Given the description of an element on the screen output the (x, y) to click on. 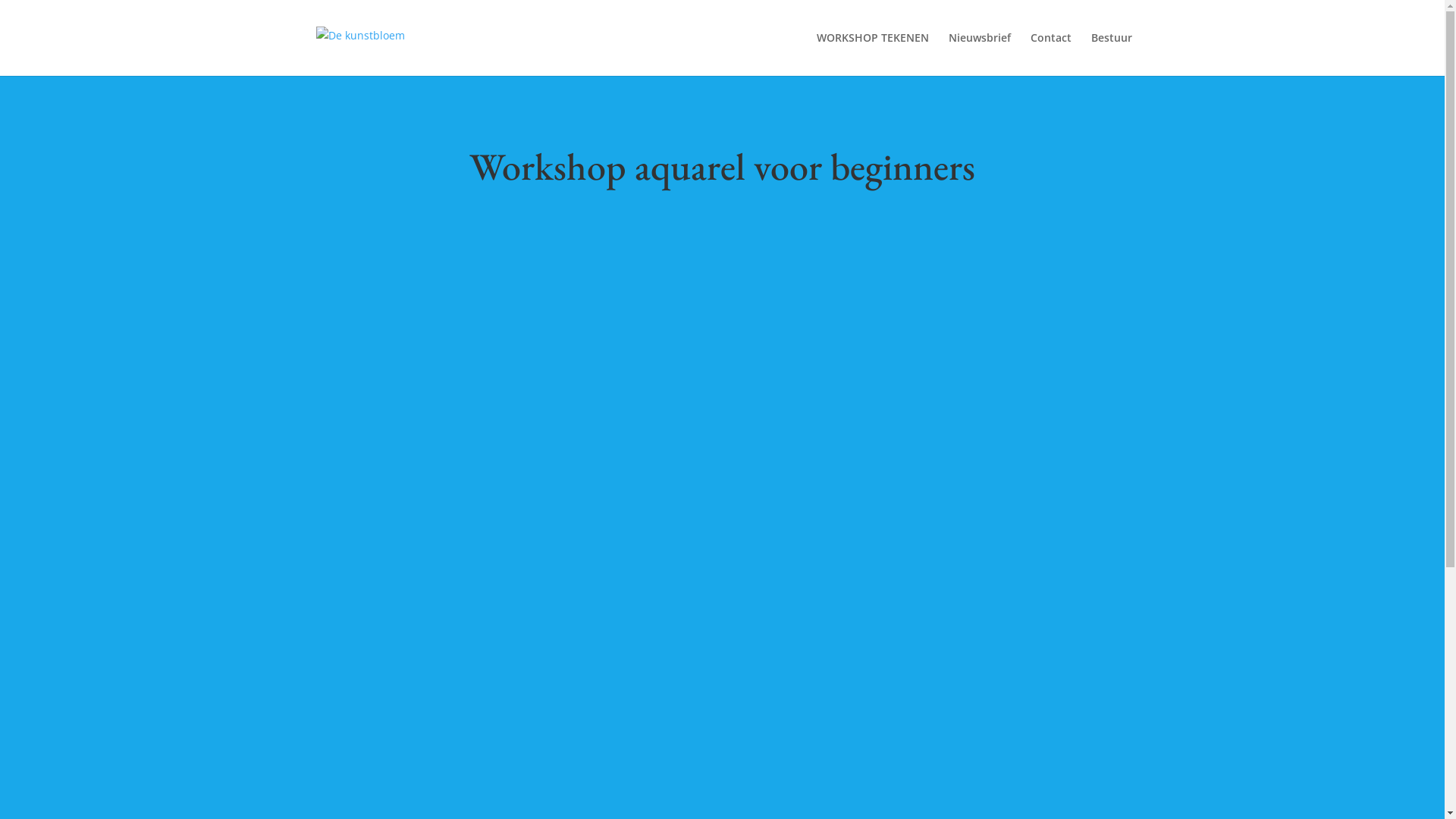
WORKSHOP TEKENEN Element type: text (871, 53)
Contact Element type: text (1049, 53)
Bestuur Element type: text (1110, 53)
Nieuwsbrief Element type: text (978, 53)
